Given the description of an element on the screen output the (x, y) to click on. 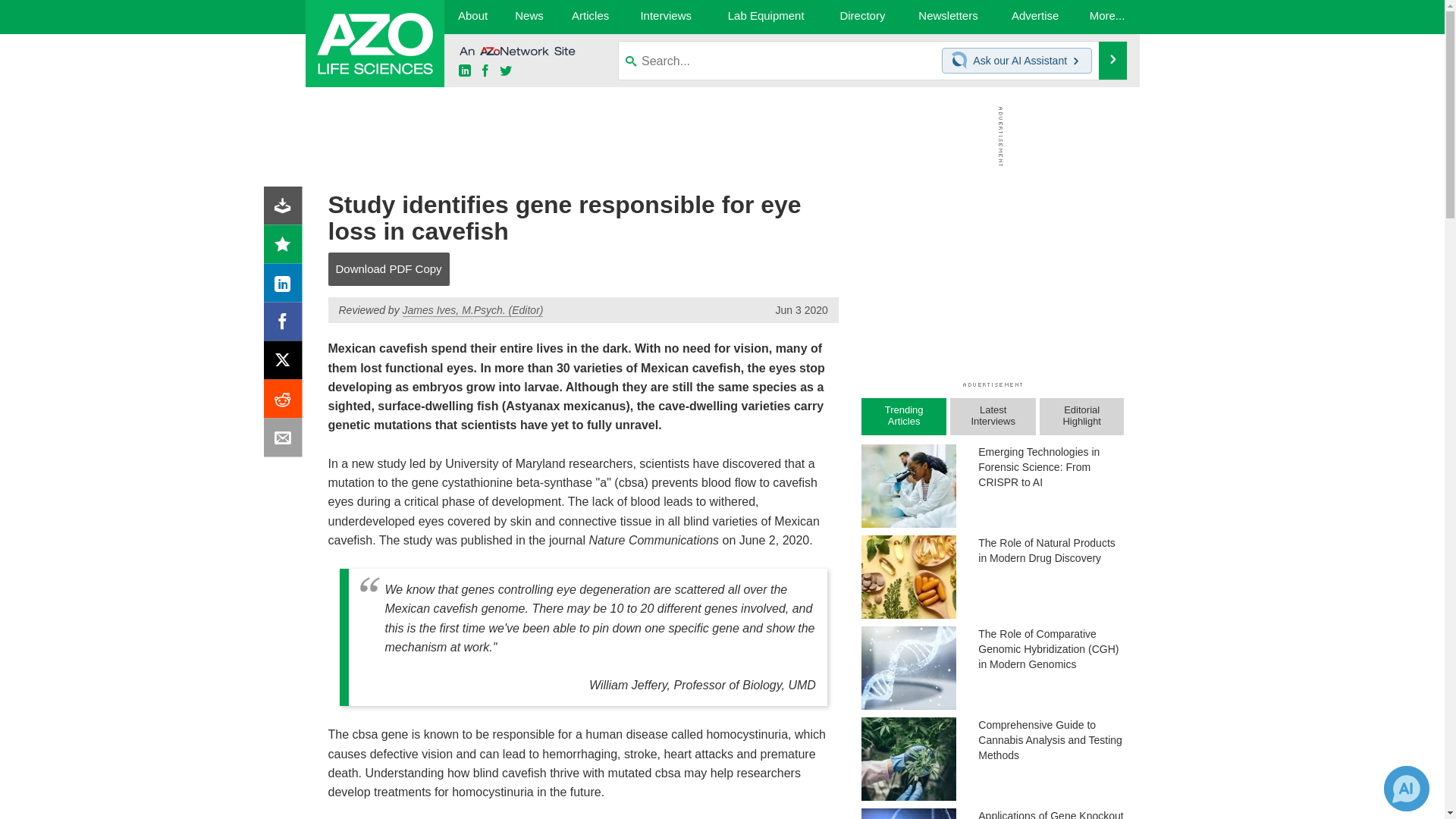
Facebook (285, 324)
More... (1107, 17)
Rating (285, 247)
News (528, 17)
About (472, 17)
Reddit (285, 402)
Advertise (1035, 17)
Directory (862, 17)
Interviews (665, 17)
Download PDF copy (285, 208)
Newsletters (948, 17)
Articles (590, 17)
LinkedIn (285, 286)
Lab Equipment (765, 17)
